Given the description of an element on the screen output the (x, y) to click on. 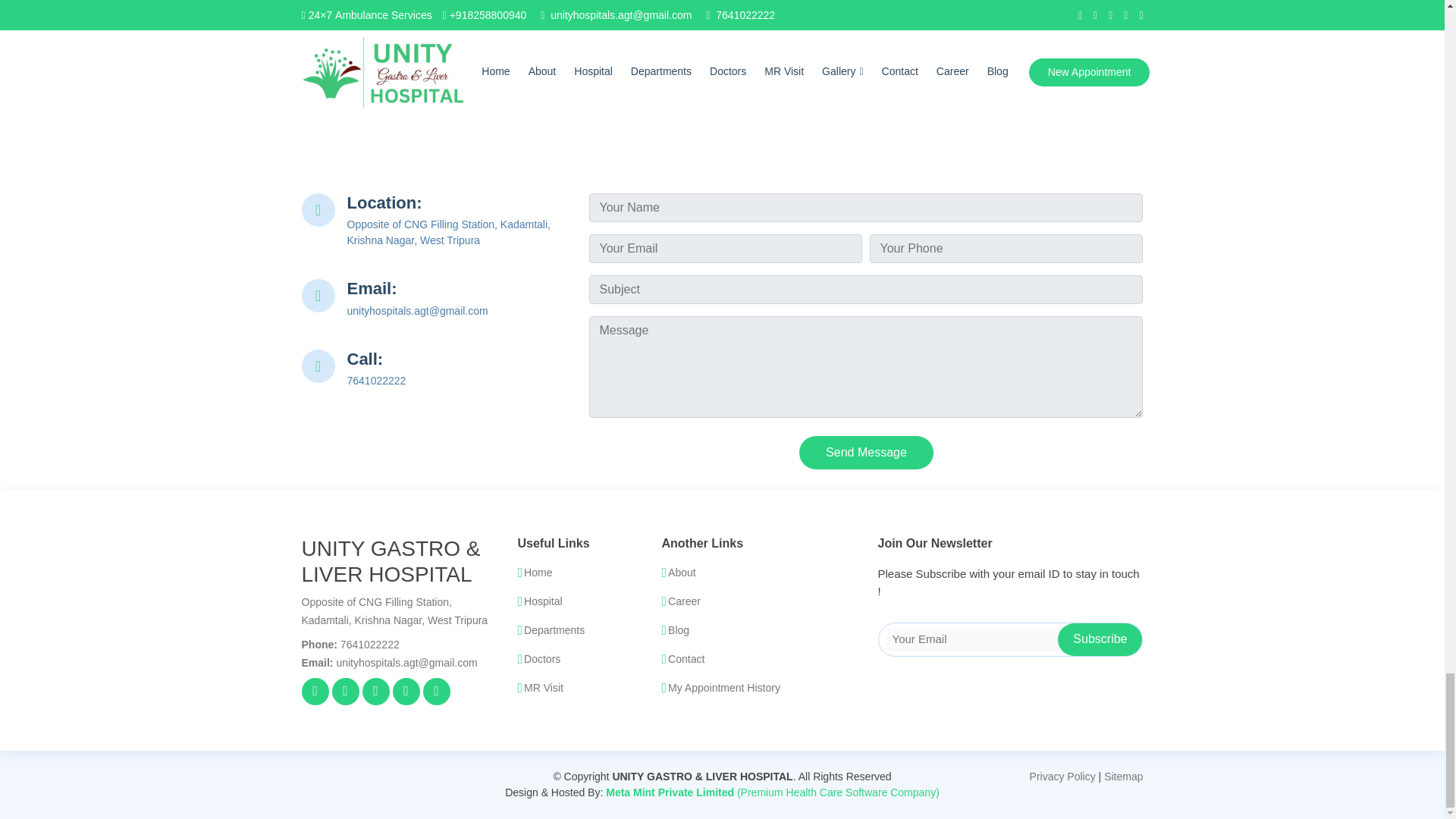
Subscribe (1099, 639)
